Given the description of an element on the screen output the (x, y) to click on. 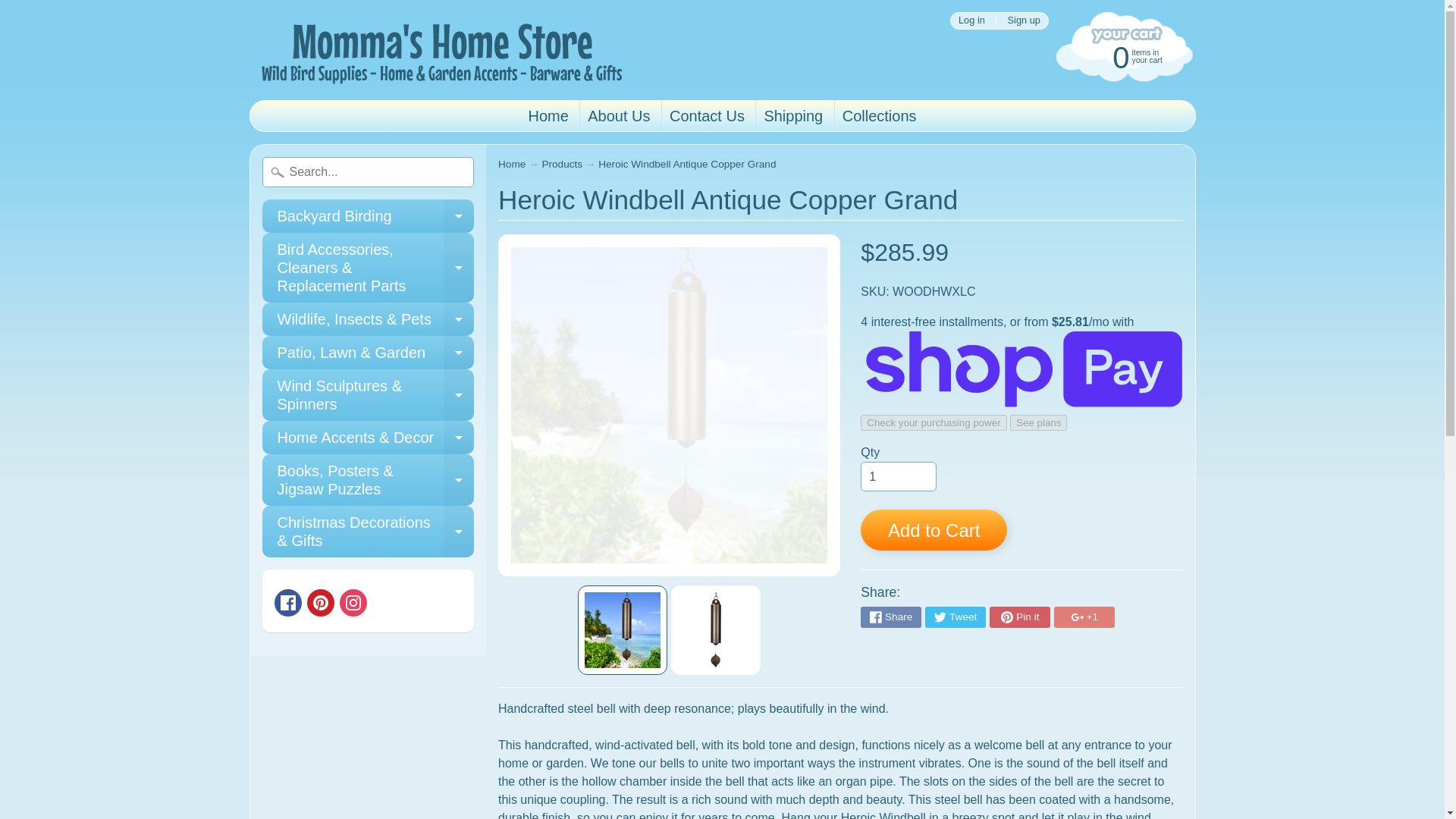
Pin on Pinterest (1019, 617)
Pinterest (320, 602)
Log in (970, 20)
Heroic Windbell Antique Copper Grand (715, 629)
Expand child menu (368, 215)
Back to the home page (459, 215)
Instagram (511, 163)
Heroic Windbell Antique Copper Grand (352, 602)
Sign up (622, 629)
Momma's Home Store (1024, 20)
Facebook (437, 49)
Tweet on Twitter (288, 602)
Home (1122, 56)
